Given the description of an element on the screen output the (x, y) to click on. 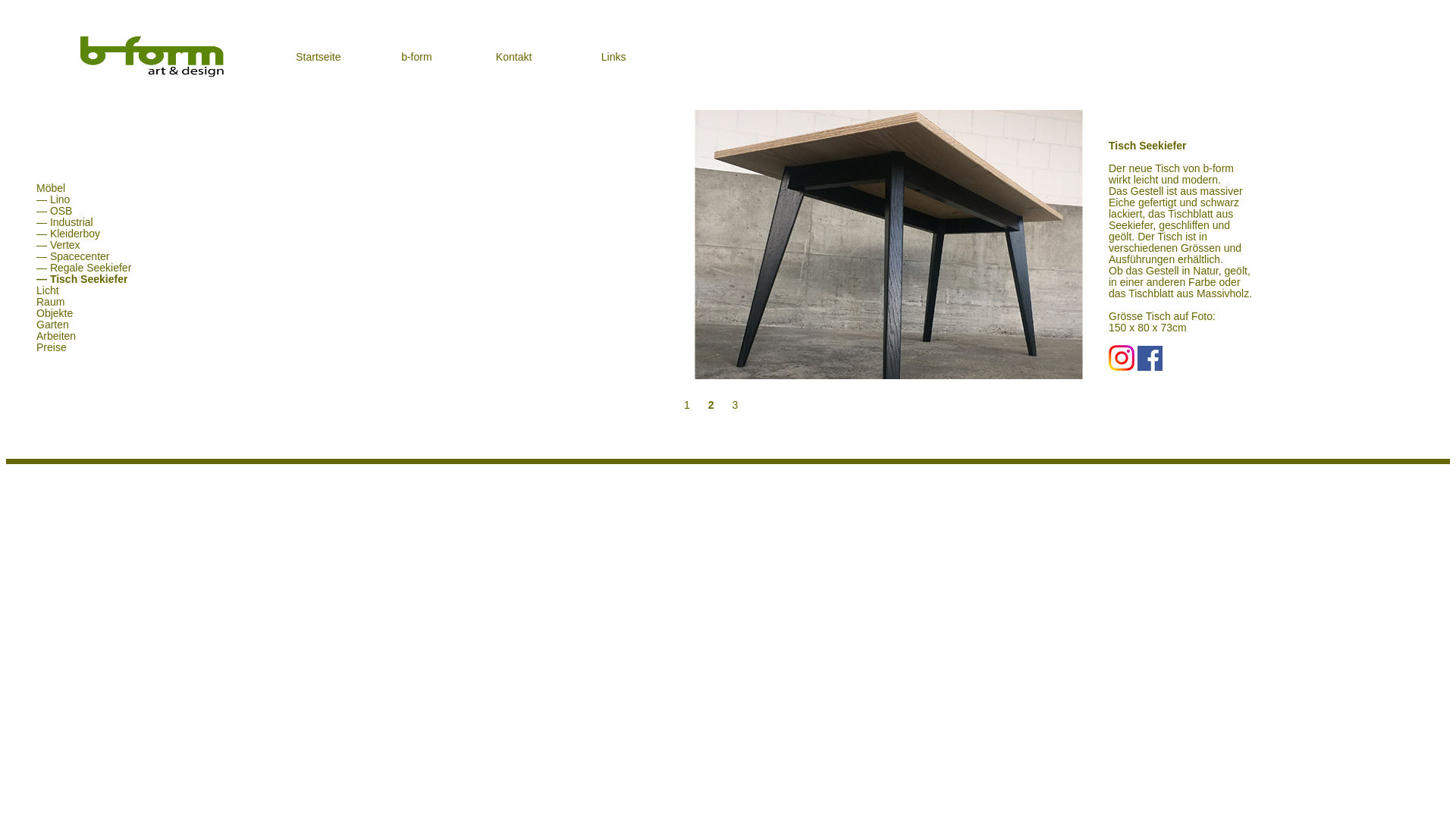
Raum Element type: text (42, 301)
b-form Element type: text (416, 56)
Licht Element type: text (40, 290)
1 Element type: text (680, 404)
Preise Element type: text (43, 347)
3 Element type: text (726, 404)
Kontakt Element type: text (513, 56)
Links Element type: text (613, 56)
2 Element type: text (705, 404)
Objekte Element type: text (46, 313)
Startseite Element type: text (317, 56)
Arbeiten Element type: text (48, 335)
Garten Element type: text (45, 324)
